Given the description of an element on the screen output the (x, y) to click on. 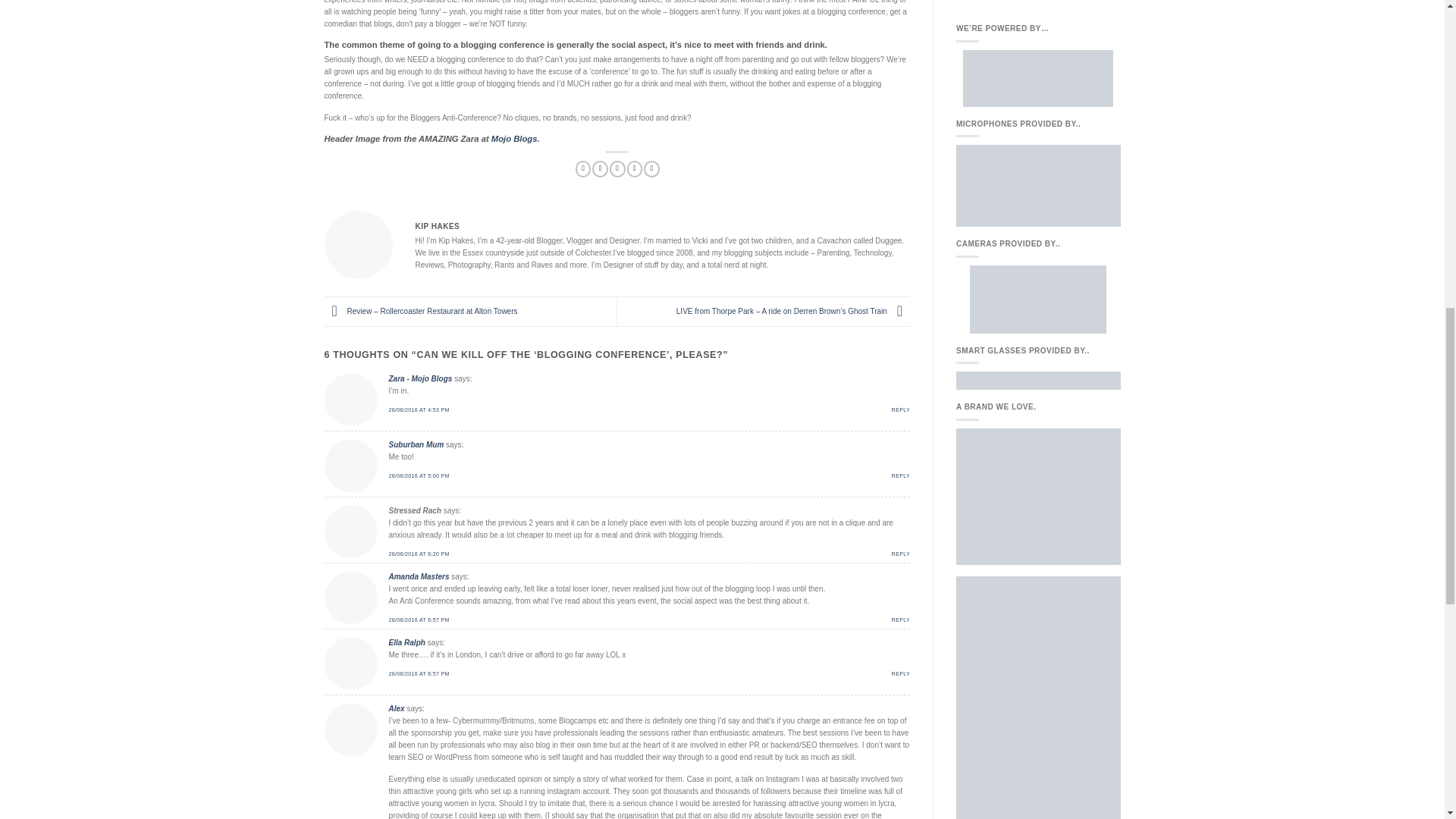
REPLY (900, 553)
REPLY (900, 619)
REPLY (900, 409)
REPLY (900, 475)
Pin on Pinterest (635, 168)
Share on Facebook (583, 168)
Email to a Friend (618, 168)
Share on Twitter (600, 168)
Mojo Blogs (514, 138)
Suburban Mum (416, 444)
